Given the description of an element on the screen output the (x, y) to click on. 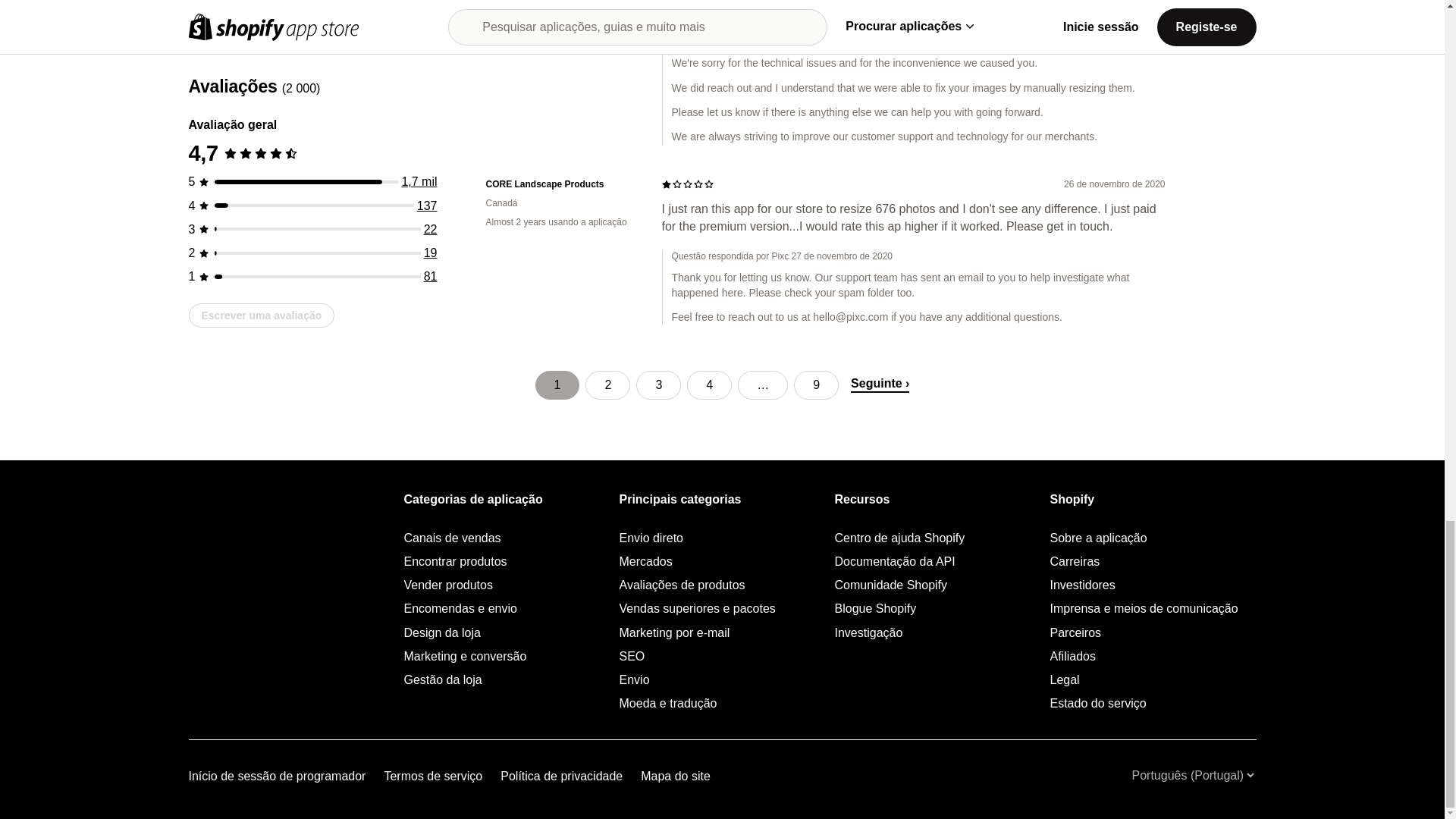
CORE Landscape Products (560, 184)
